Given the description of an element on the screen output the (x, y) to click on. 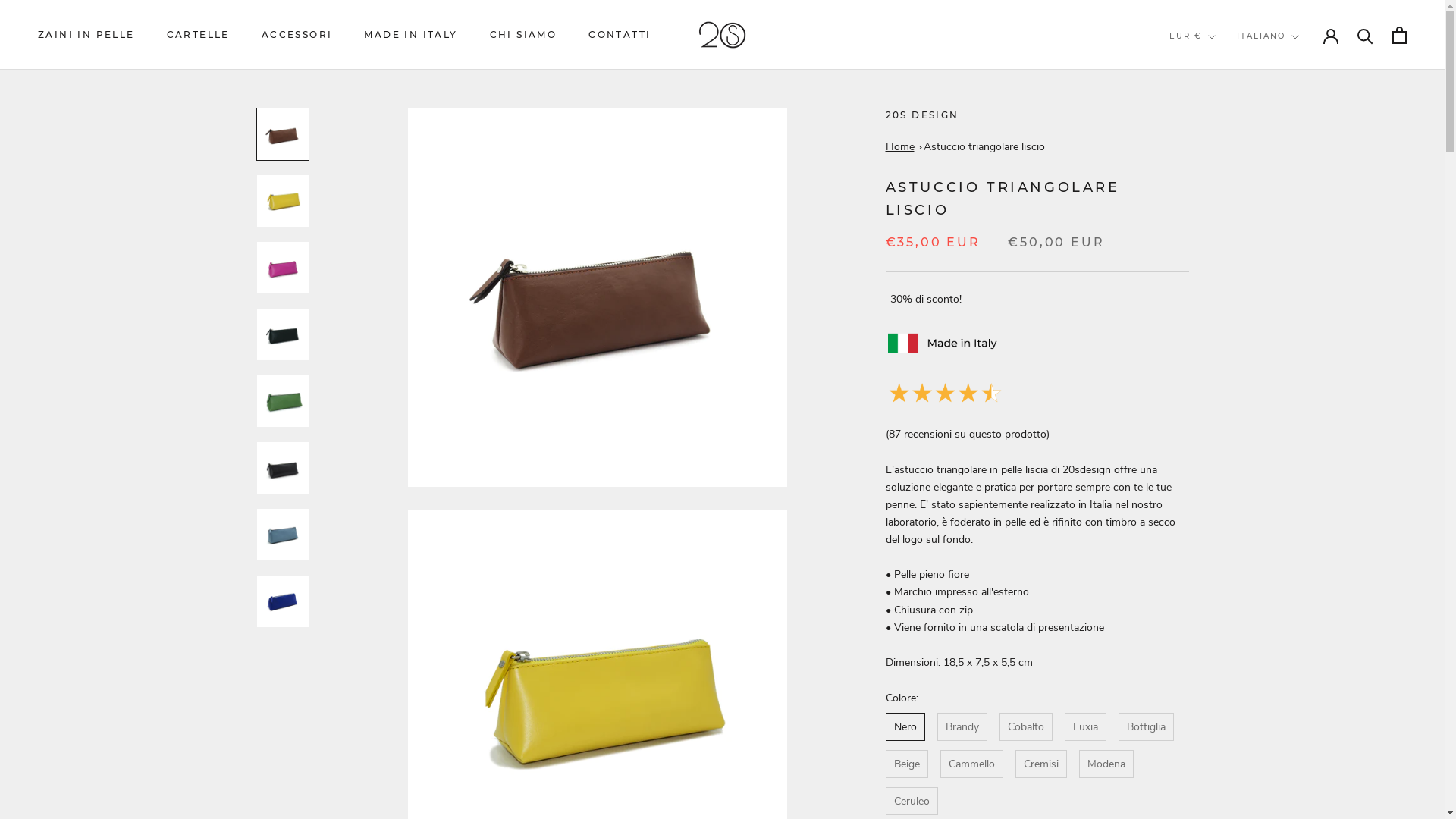
CHF Element type: text (1218, 470)
BSD Element type: text (1218, 369)
AED Element type: text (1218, 68)
ALL Element type: text (1218, 108)
FKP Element type: text (1218, 731)
BWP Element type: text (1218, 389)
AZN Element type: text (1218, 208)
Astuccio triangolare liscio Element type: text (983, 146)
BGN Element type: text (1218, 289)
BBD Element type: text (1218, 248)
BND Element type: text (1218, 329)
CARTELLE
CARTELLE Element type: text (197, 34)
DKK Element type: text (1218, 590)
EUR Element type: text (1218, 690)
CDF Element type: text (1218, 449)
MADE IN ITALY
MADE IN ITALY Element type: text (410, 34)
ACCESSORI Element type: text (296, 34)
BZD Element type: text (1218, 409)
ETB Element type: text (1218, 671)
AFN Element type: text (1218, 88)
BDT Element type: text (1218, 269)
recensioni su questo prodotto) Element type: text (976, 433)
BOB Element type: text (1218, 349)
it Element type: text (1284, 68)
FJD Element type: text (1218, 711)
CNY Element type: text (1218, 490)
DOP Element type: text (1218, 610)
AWG Element type: text (1218, 188)
ZAINI IN PELLE
ZAINI IN PELLE Element type: text (85, 34)
ANG Element type: text (1218, 148)
CHI SIAMO
CHI SIAMO Element type: text (523, 34)
BIF Element type: text (1218, 309)
Home Element type: text (899, 146)
EGP Element type: text (1218, 650)
AMD Element type: text (1218, 128)
CONTATTI
CONTATTI Element type: text (619, 34)
CZK Element type: text (1218, 550)
BAM Element type: text (1218, 229)
ITALIANO Element type: text (1267, 36)
GNF Element type: text (1218, 791)
CAD Element type: text (1218, 430)
CRC Element type: text (1218, 510)
CVE Element type: text (1218, 530)
en Element type: text (1284, 88)
GBP Element type: text (1218, 751)
GMD Element type: text (1218, 771)
DJF Element type: text (1218, 570)
AUD Element type: text (1218, 168)
DZD Element type: text (1218, 631)
